Given the description of an element on the screen output the (x, y) to click on. 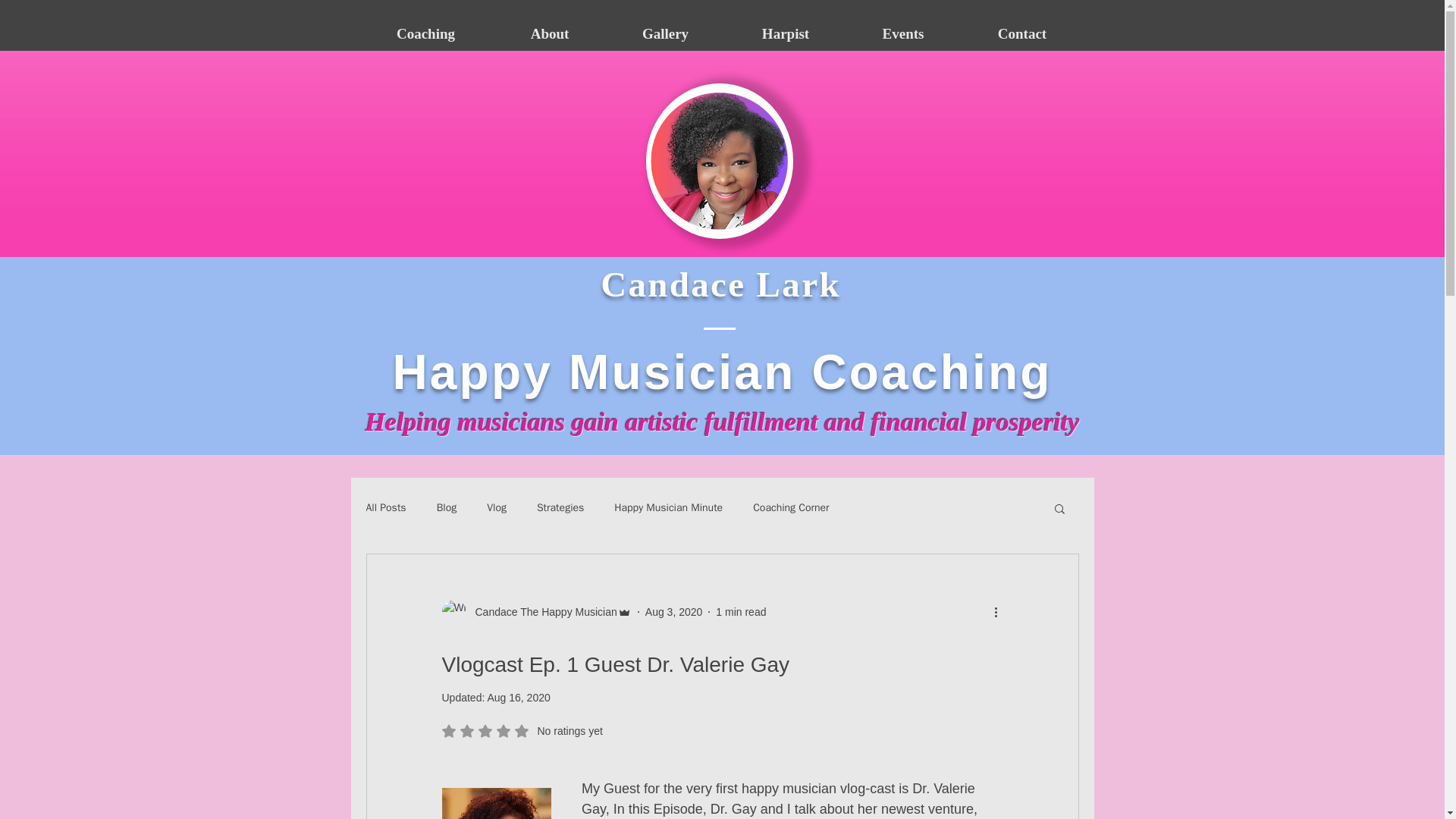
Vlog (496, 508)
Strategies (560, 508)
Candace The Happy Musician (535, 611)
Coaching (426, 33)
Blog (446, 508)
Contact (1021, 33)
Aug 3, 2020 (674, 612)
All Posts (385, 508)
Coaching Corner (790, 508)
Harpist (785, 33)
Gallery (665, 33)
Aug 16, 2020 (518, 697)
1 min read (740, 612)
Candace The Happy Musician (540, 611)
Happy Musician Minute (668, 508)
